Given the description of an element on the screen output the (x, y) to click on. 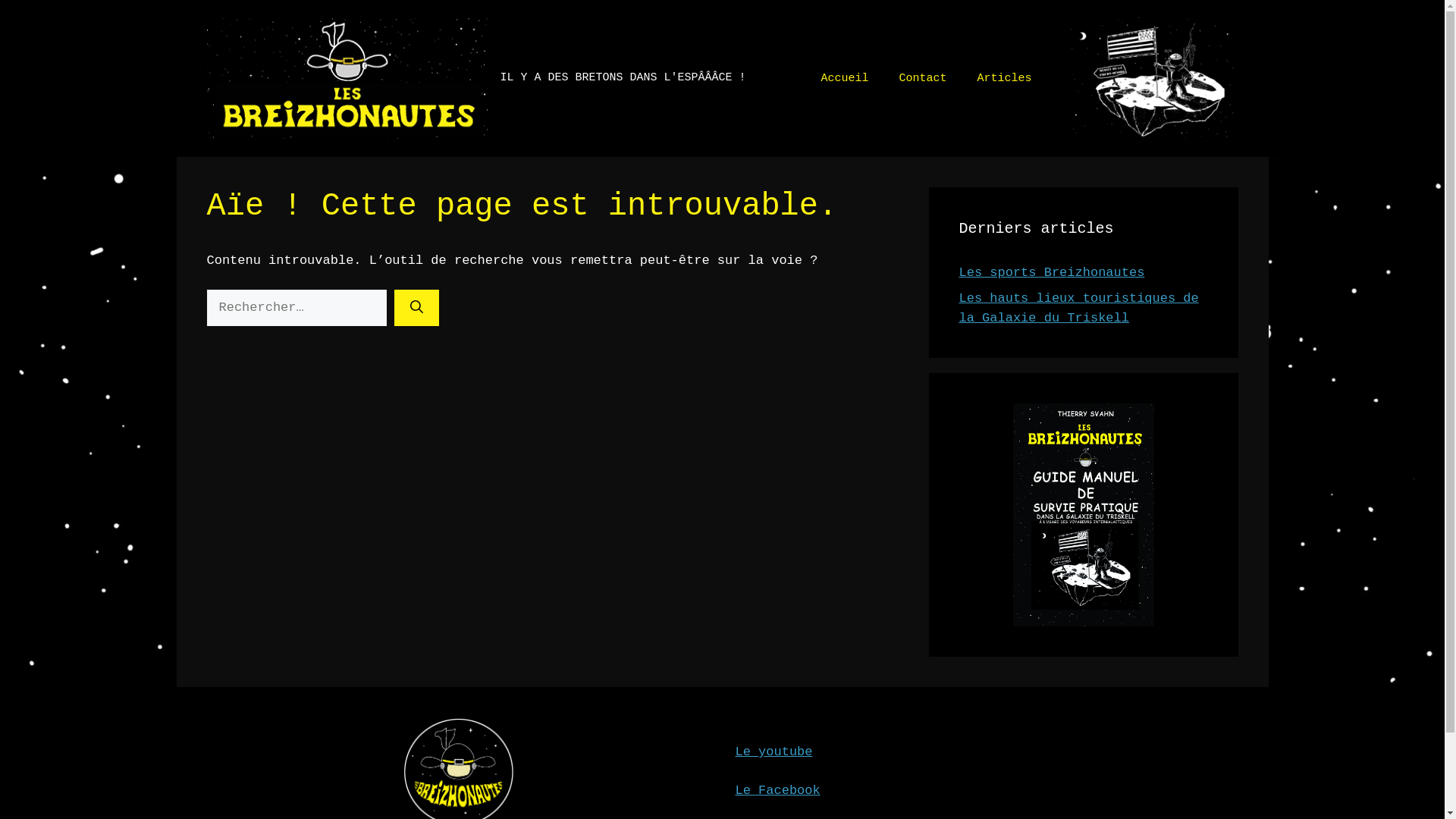
Le Facebook Element type: text (777, 790)
Contact Element type: text (922, 78)
Les hauts lieux touristiques de la Galaxie du Triskell Element type: text (1078, 308)
Articles Element type: text (1003, 78)
Les sports Breizhonautes Element type: text (1051, 272)
Accueil Element type: text (844, 78)
Le youtube Element type: text (773, 751)
